Given the description of an element on the screen output the (x, y) to click on. 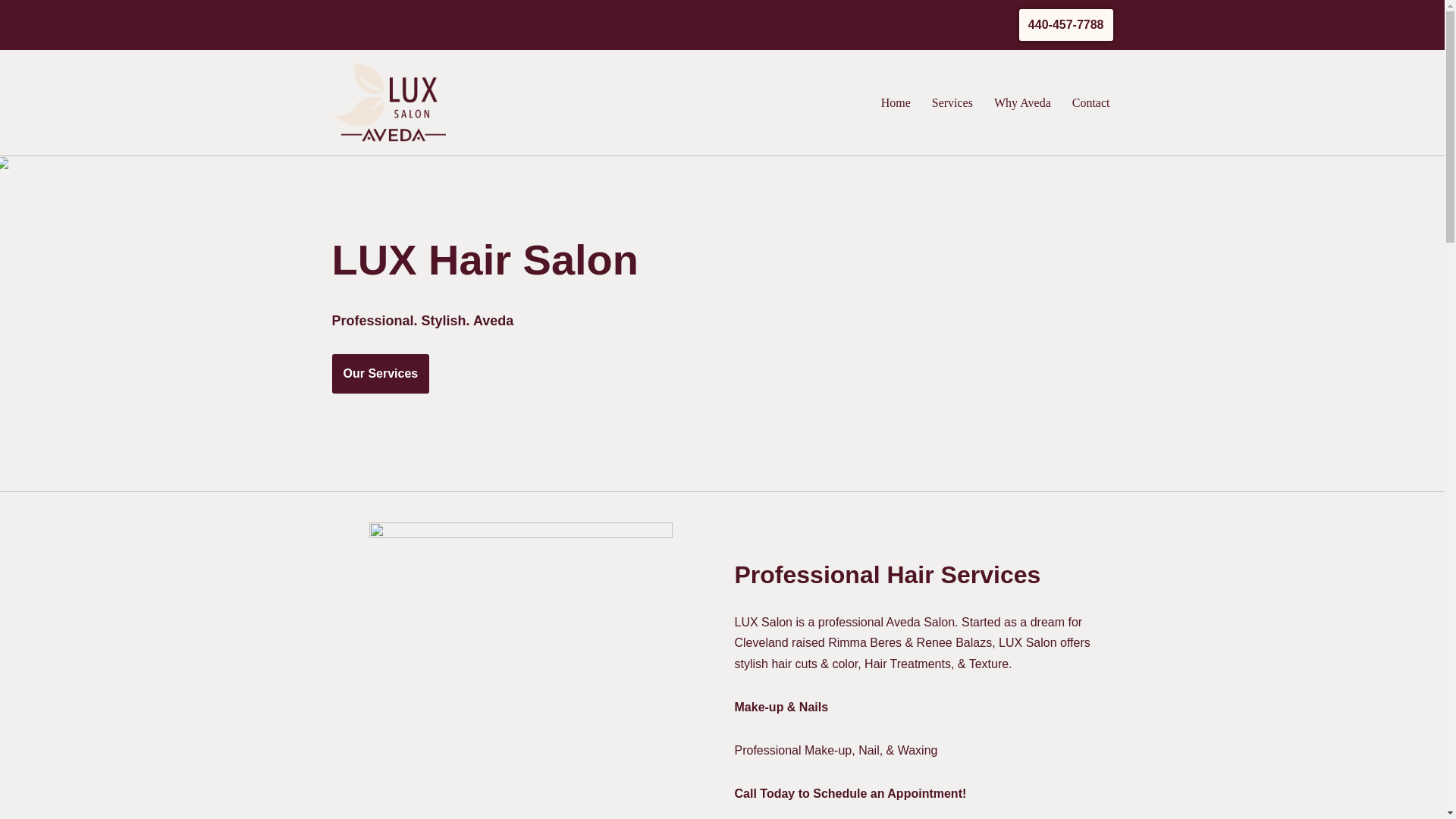
Contact (1090, 102)
Skip to content (11, 31)
Services (951, 102)
Our Services (380, 373)
440-457-7788 (1066, 24)
Home (895, 102)
Why Aveda (1022, 102)
